Given the description of an element on the screen output the (x, y) to click on. 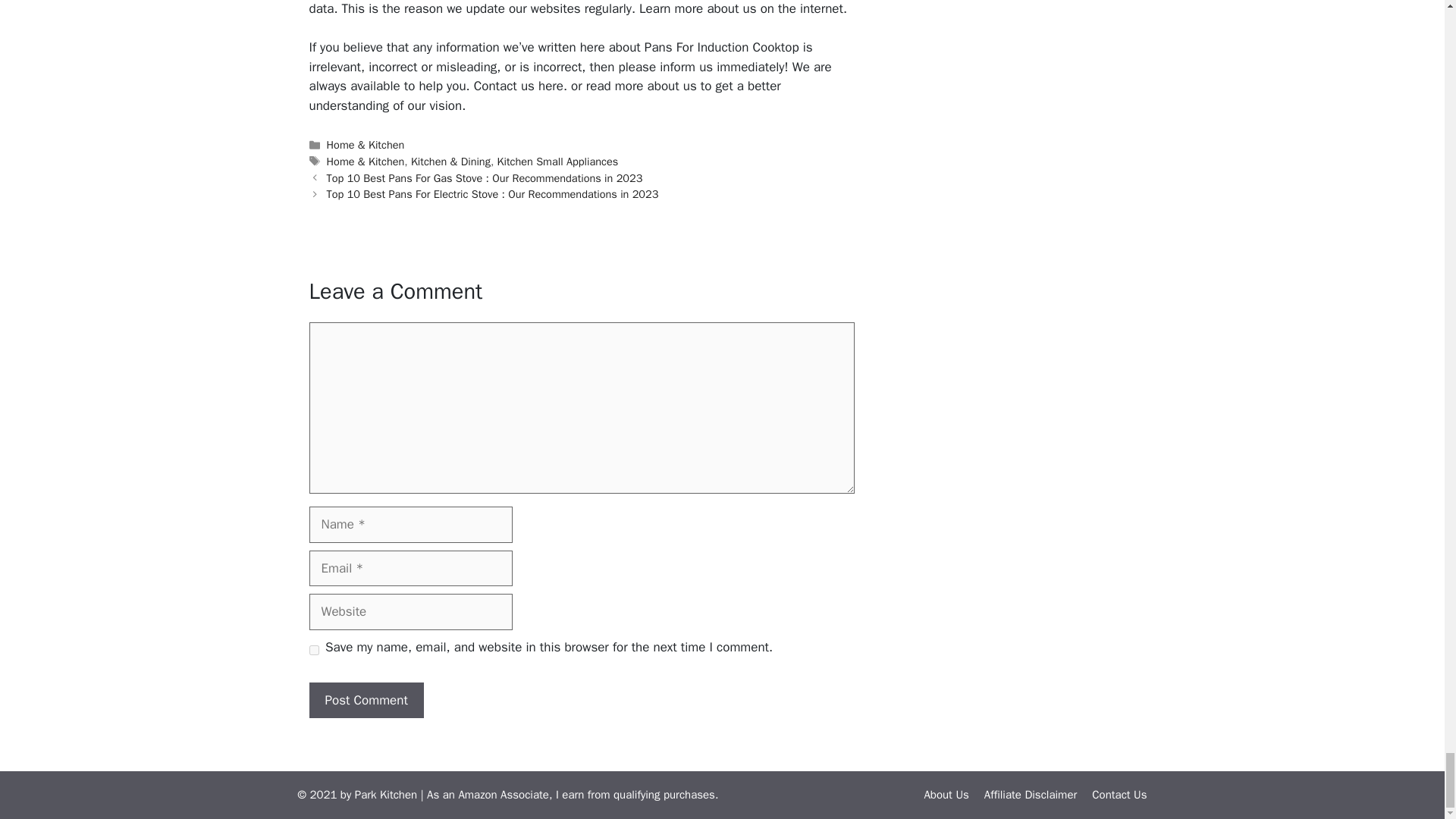
yes (313, 650)
Post Comment (365, 700)
